Given the description of an element on the screen output the (x, y) to click on. 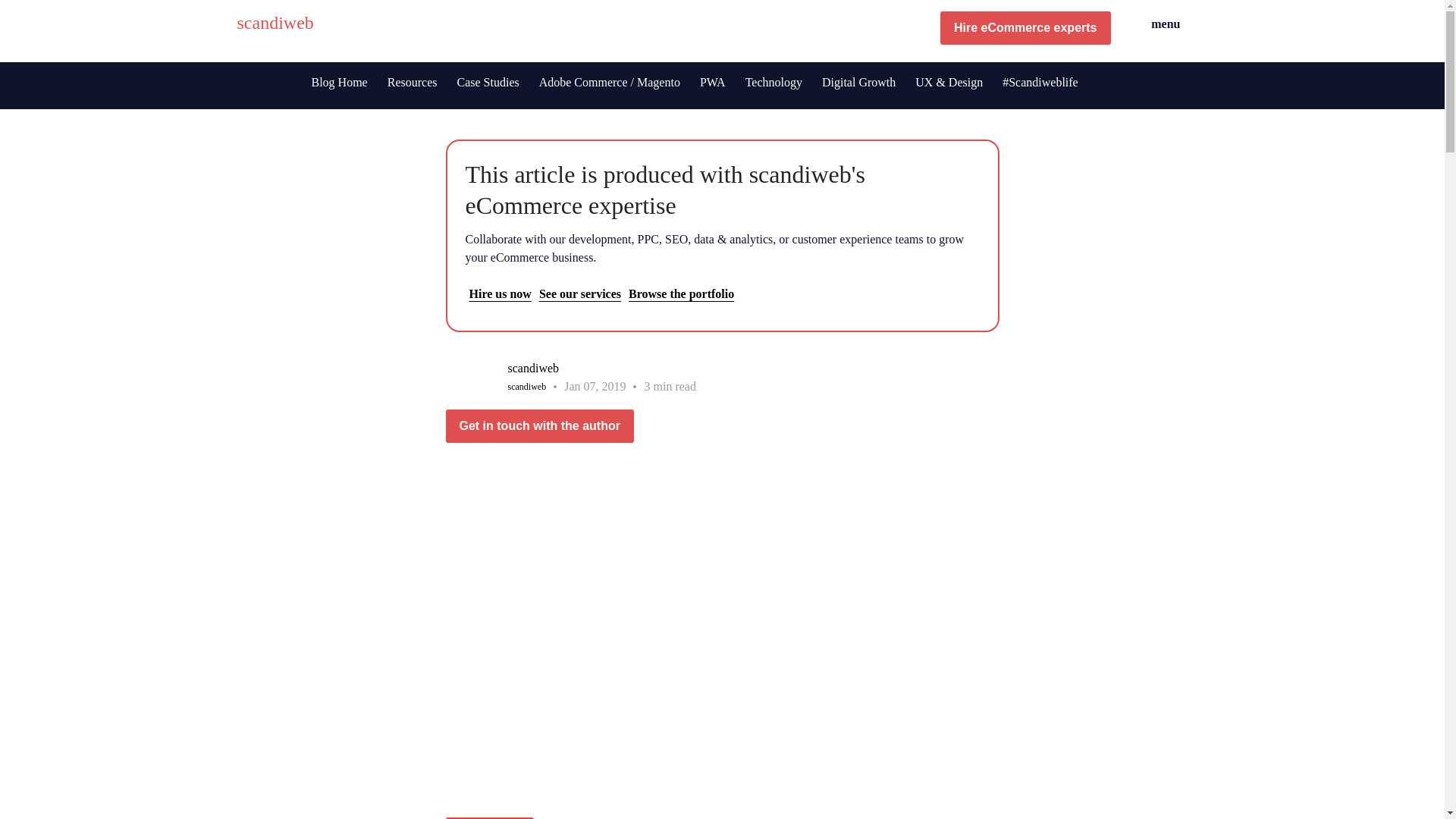
scandiweb (274, 27)
Case Studies (487, 82)
See our services (579, 293)
Digital Growth (858, 82)
Blog Home (339, 82)
Hire us now (499, 293)
Browse the portfolio (680, 293)
Hire eCommerce experts (1025, 28)
Resources (411, 82)
PWA (712, 82)
